Given the description of an element on the screen output the (x, y) to click on. 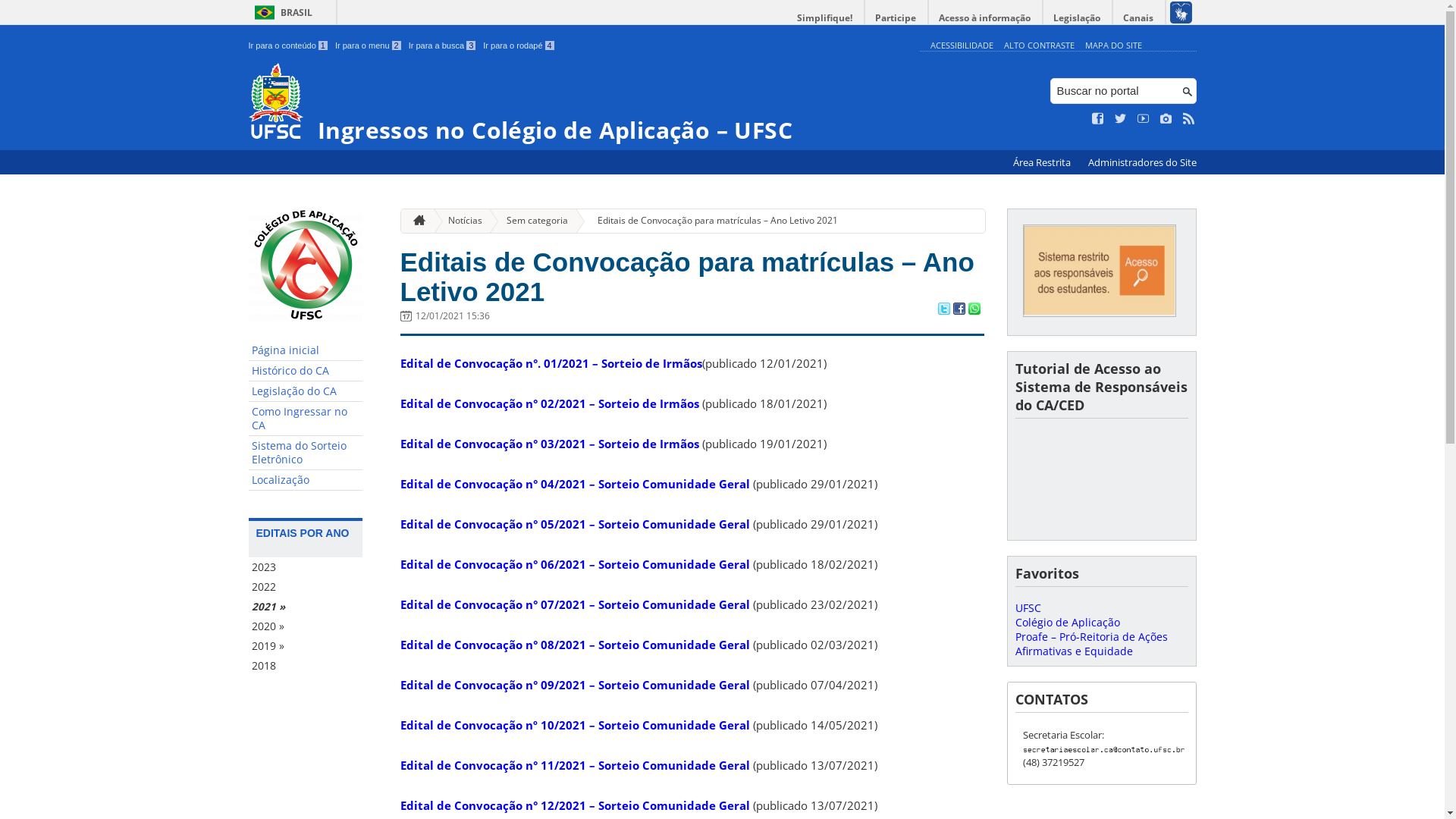
Canais Element type: text (1138, 18)
Administradores do Site Element type: text (1141, 162)
Curta no Facebook Element type: hover (1098, 118)
Simplifique! Element type: text (825, 18)
2023 Element type: text (305, 567)
Compartilhar no WhatsApp Element type: hover (973, 309)
Como Ingressar no CA Element type: text (305, 418)
Compartilhar no Twitter Element type: hover (943, 309)
Sem categoria Element type: text (531, 220)
2018 Element type: text (305, 665)
Compartilhar no Facebook Element type: hover (958, 309)
Ir para o menu 2 Element type: text (368, 45)
ACESSIBILIDADE Element type: text (960, 44)
Veja no Instagram Element type: hover (1166, 118)
Ir para a busca 3 Element type: text (442, 45)
2022 Element type: text (305, 586)
Siga no Twitter Element type: hover (1120, 118)
MAPA DO SITE Element type: text (1112, 44)
BRASIL Element type: text (280, 12)
ALTO CONTRASTE Element type: text (1039, 44)
UFSC Element type: text (1027, 607)
Participe Element type: text (895, 18)
